Given the description of an element on the screen output the (x, y) to click on. 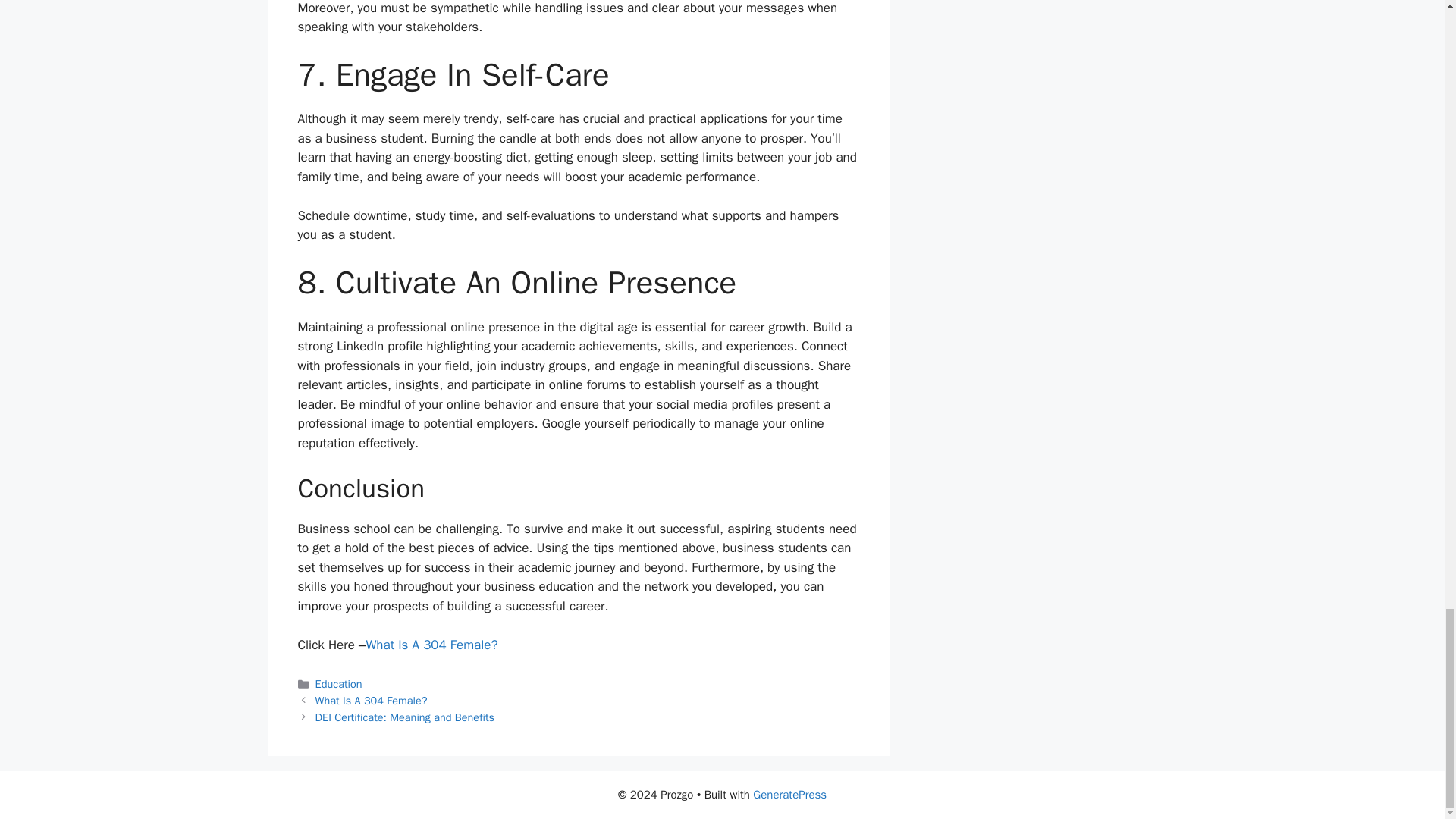
DEI Certificate: Meaning and Benefits (405, 716)
What Is A 304 Female? (431, 644)
Education (338, 684)
What Is A 304 Female? (371, 700)
